Given the description of an element on the screen output the (x, y) to click on. 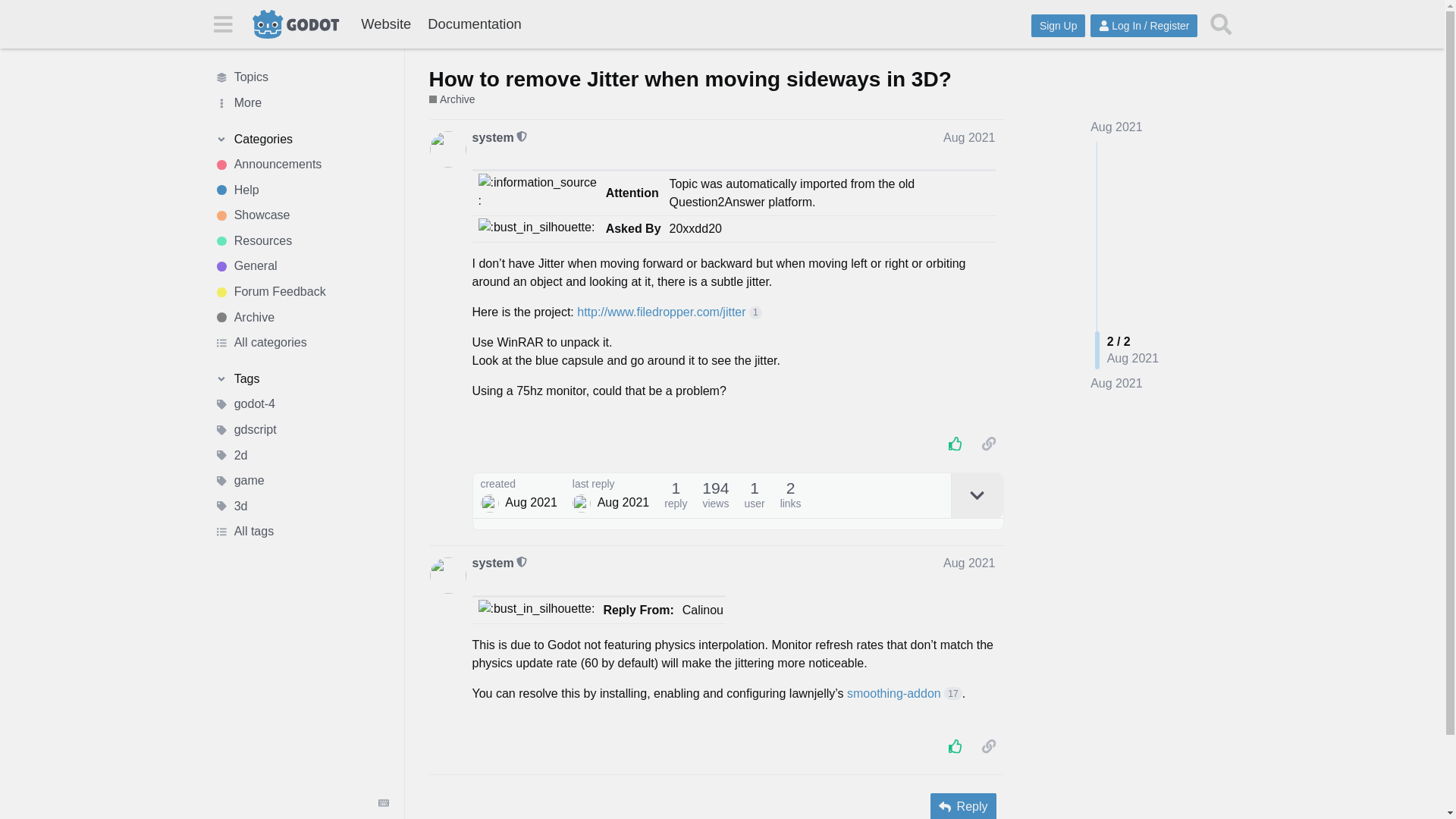
All topics (301, 77)
Forum Feedback (301, 291)
Documentation (474, 23)
game (301, 481)
system (492, 137)
Announcements (301, 164)
gdscript (301, 429)
Aug 2021 (1116, 383)
How to remove Jitter when moving sideways in 3D? (690, 78)
